Given the description of an element on the screen output the (x, y) to click on. 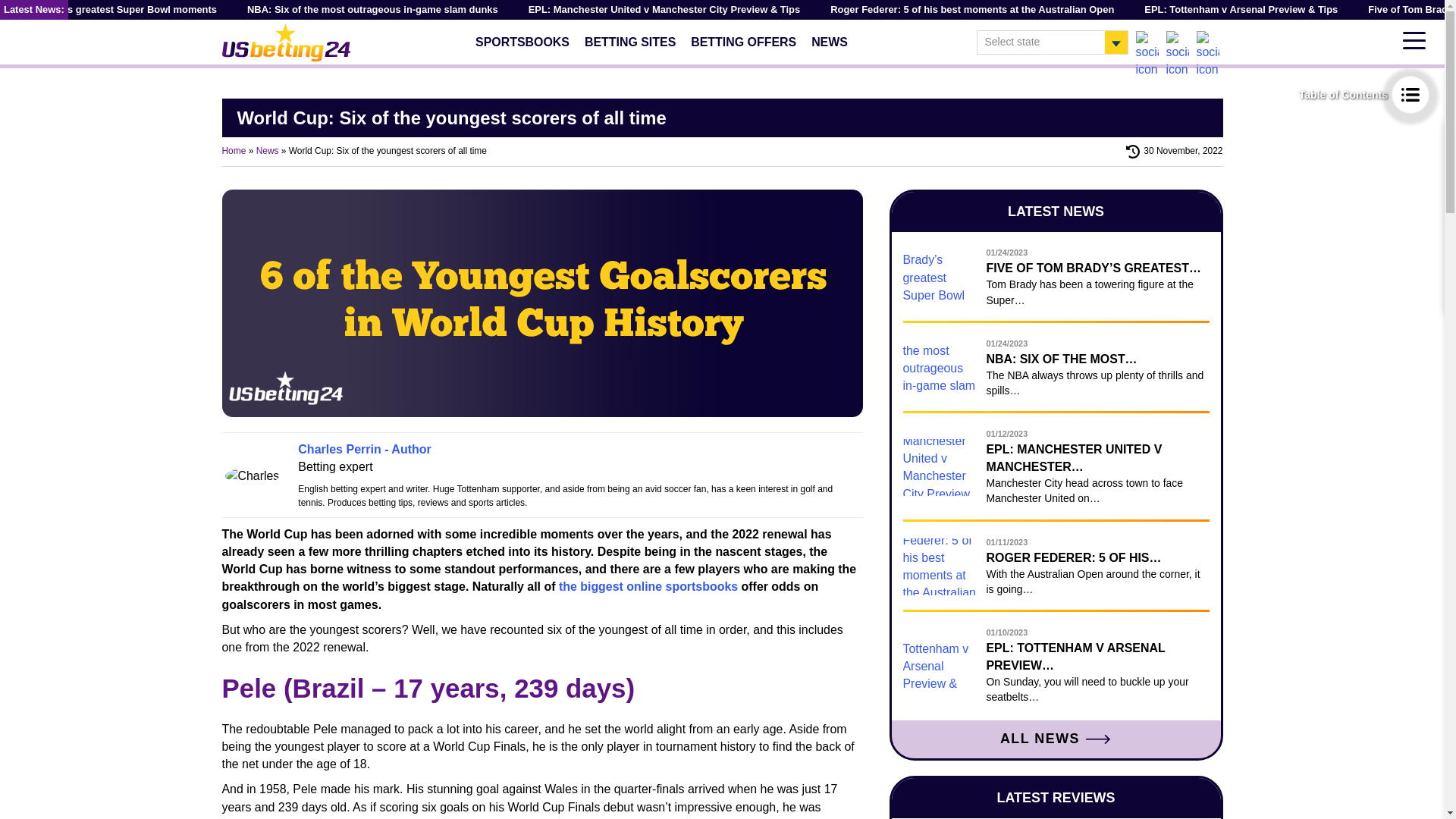
Home (233, 150)
NEWS (829, 41)
BETTING SITES (629, 41)
Search (1211, 20)
BETTING OFFERS (742, 41)
Roger Federer: 5 of his best moments at the Australian Open (971, 9)
NBA: Six of the most outrageous in-game slam dunks (372, 9)
Table of Contents (1363, 94)
SPORTSBOOKS (521, 41)
USBetting24 (285, 41)
